Given the description of an element on the screen output the (x, y) to click on. 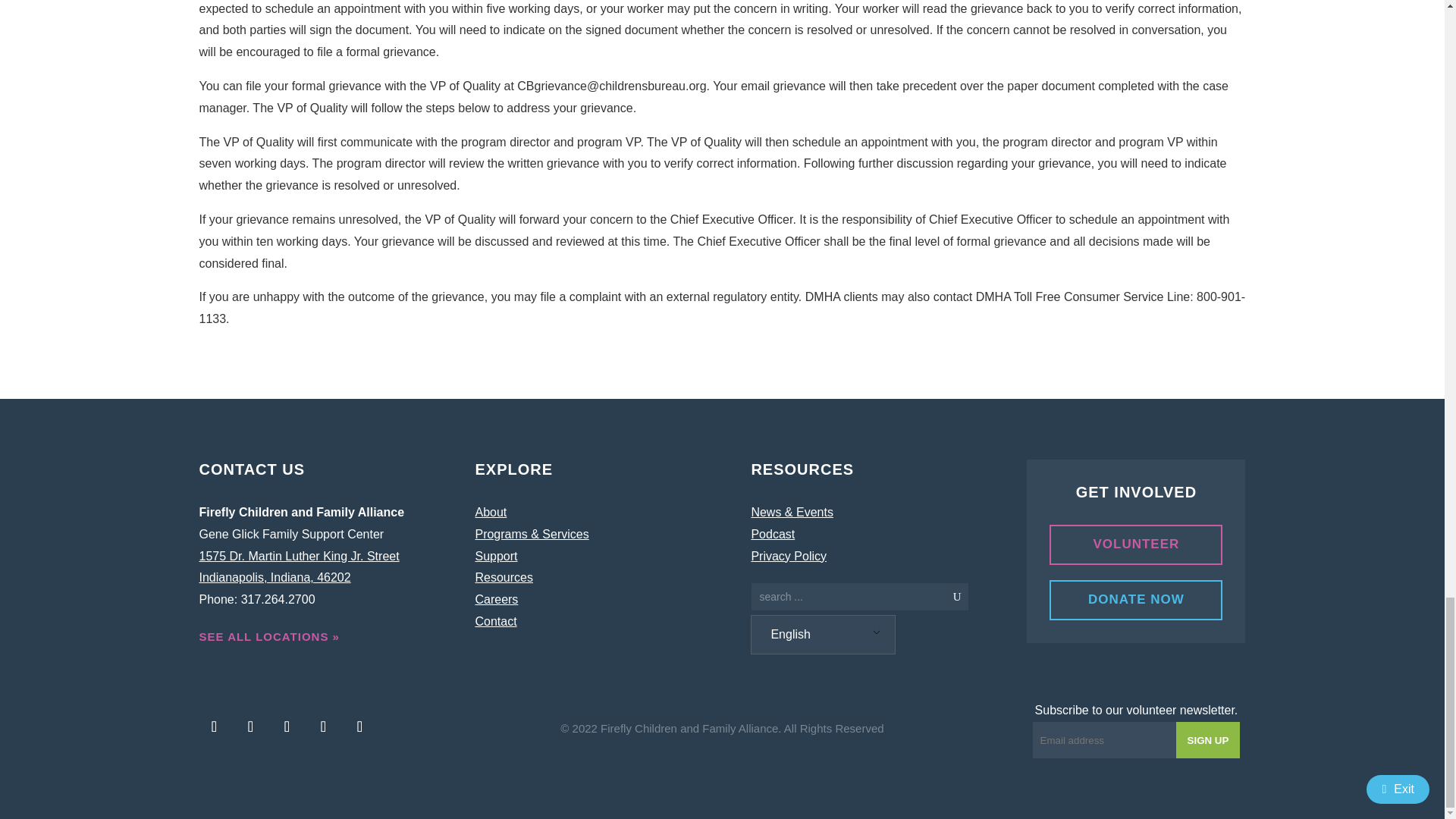
Directions to Executive Offices (298, 566)
English (820, 635)
